Given the description of an element on the screen output the (x, y) to click on. 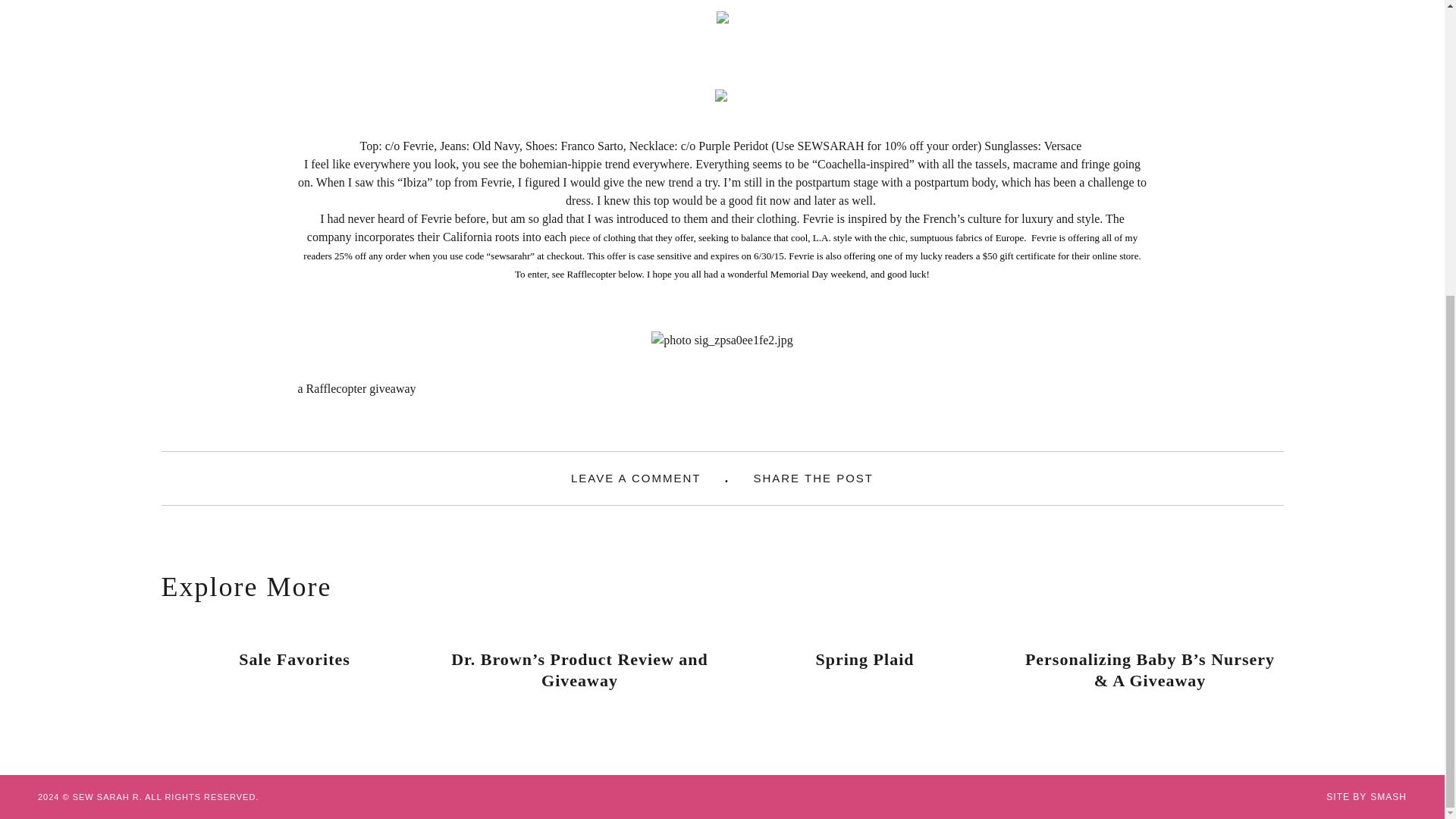
Fevrie, (419, 145)
a Rafflecopter giveaway (355, 388)
Franco Sarto (591, 145)
Versace  (1063, 145)
LEAVE A COMMENT (635, 478)
Old Navy (495, 145)
Fevrie (435, 218)
LEAVE A COMMENT (635, 478)
Purple Peridot (734, 145)
